Given the description of an element on the screen output the (x, y) to click on. 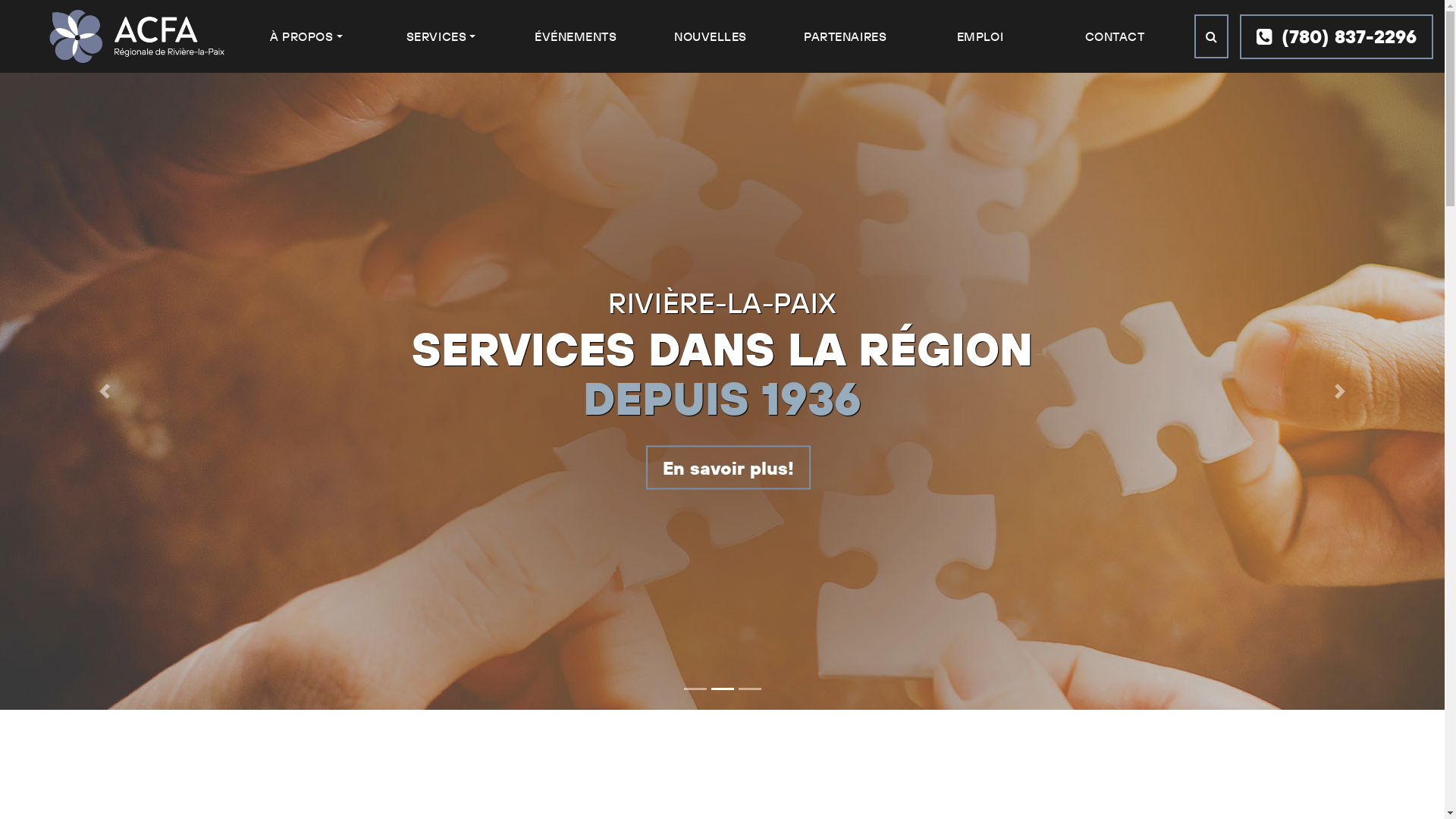
En savoir plus! Element type: text (728, 467)
SERVICES Element type: text (441, 36)
NOUVELLES Element type: text (710, 36)
CONTACT Element type: text (1114, 36)
EMPLOI Element type: text (979, 36)
PARTENAIRES Element type: text (844, 36)
(780) 837-2296 Element type: text (1336, 35)
Search Element type: hover (1211, 36)
